Given the description of an element on the screen output the (x, y) to click on. 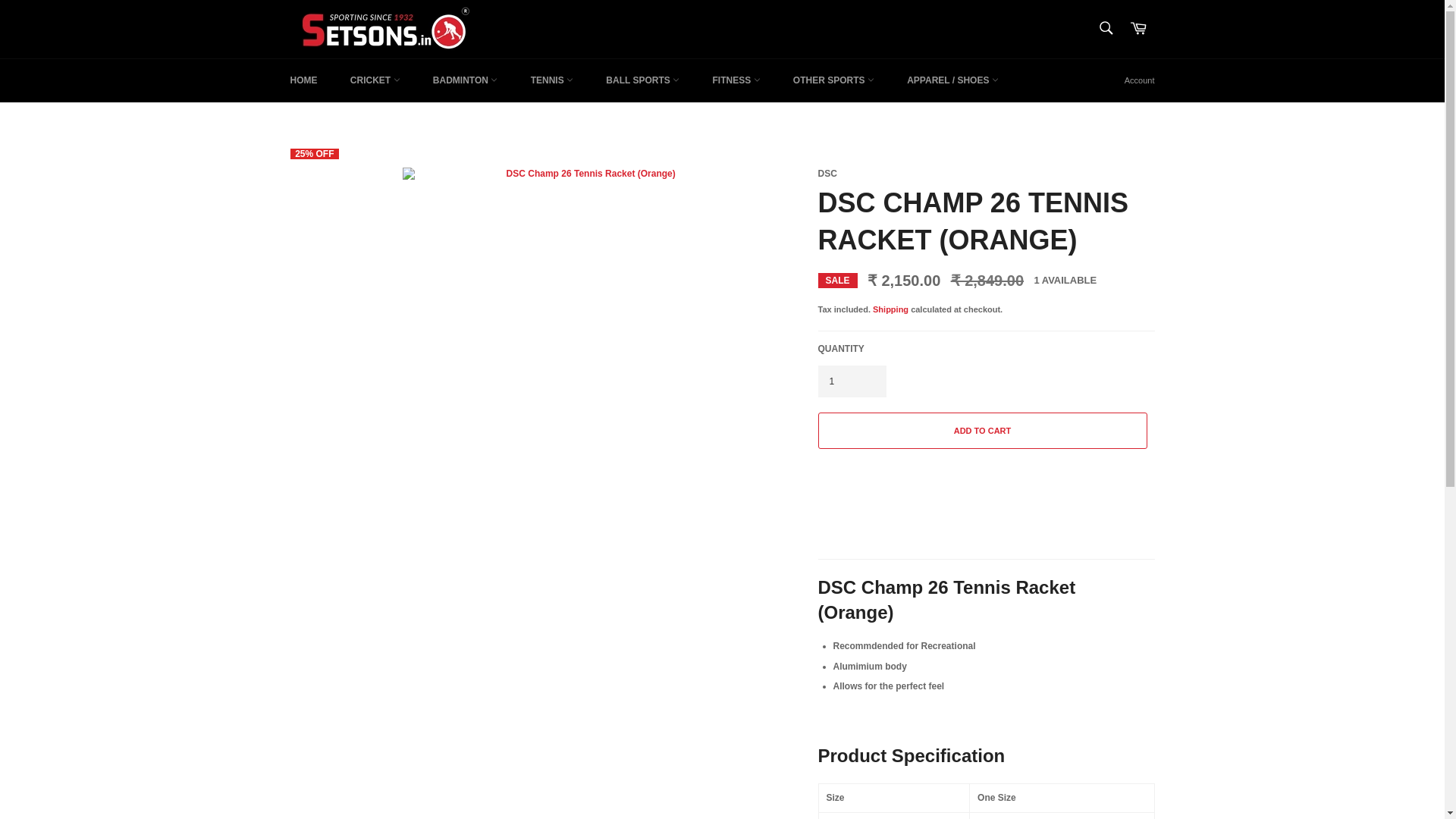
1 (850, 381)
